Given the description of an element on the screen output the (x, y) to click on. 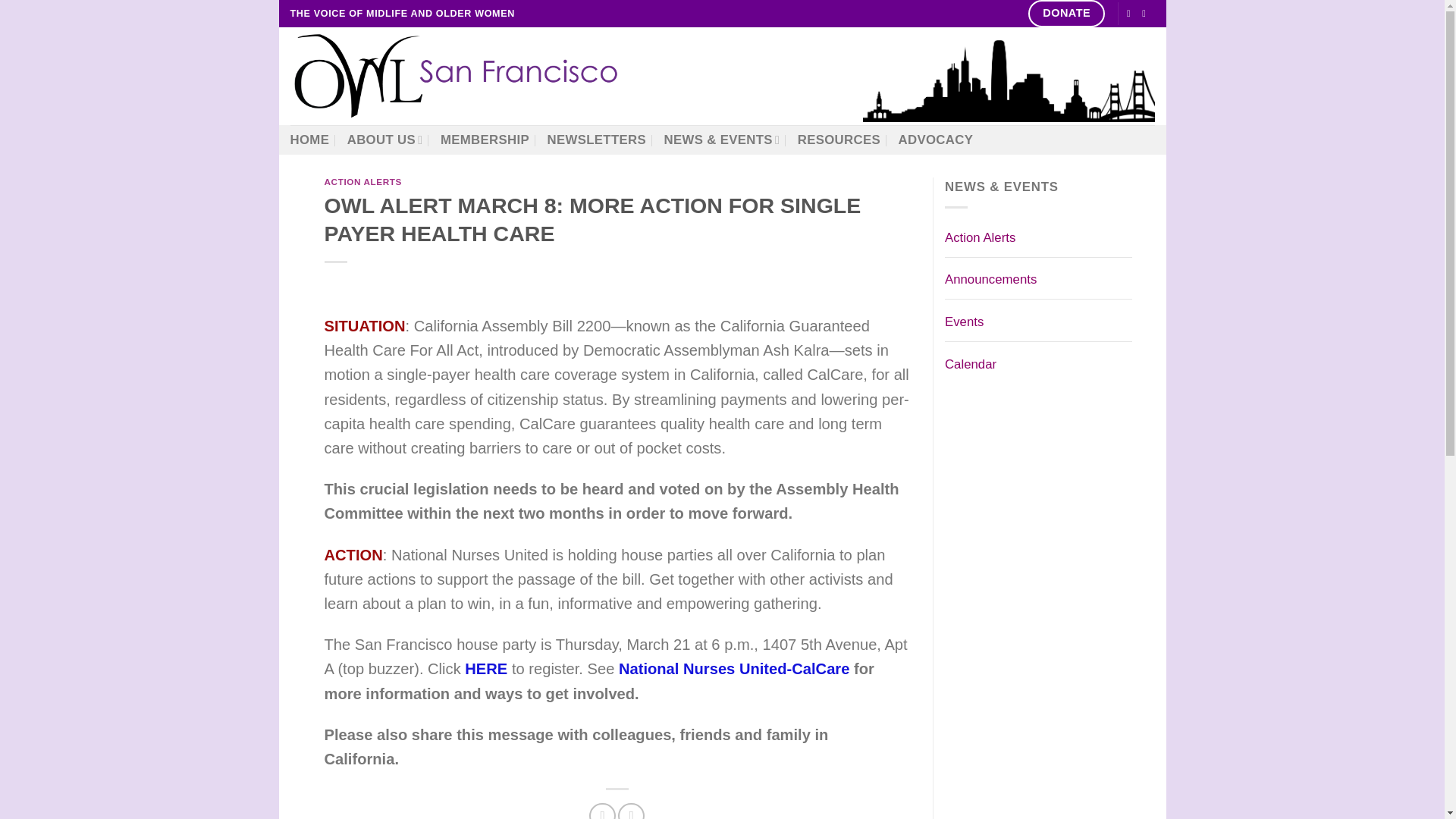
National Nurses United-CalCare (733, 668)
RESOURCES (838, 139)
ACTION ALERTS (363, 181)
HOME (309, 139)
Share on Facebook (602, 811)
MEMBERSHIP (485, 139)
HERE (485, 668)
NEWSLETTERS (596, 139)
Email to a Friend (631, 811)
ABOUT US (385, 139)
